Given the description of an element on the screen output the (x, y) to click on. 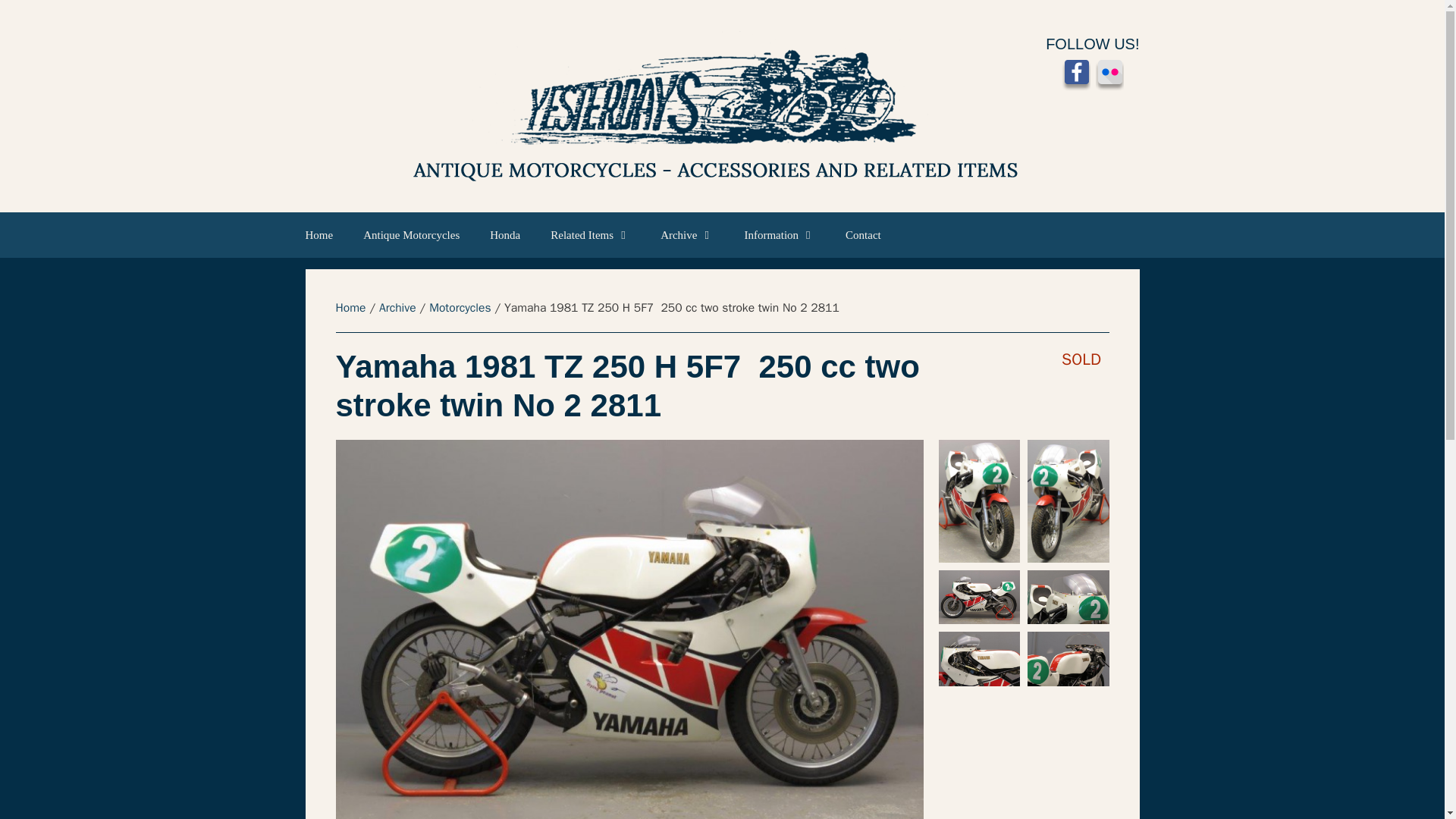
Yam-1981-TZ250-nr2-2811-5 (1068, 500)
Contact (862, 234)
Archive (397, 307)
Home (349, 307)
Home (325, 234)
Archive (687, 234)
Antique Motorcycles (410, 234)
Yam-1981-TZ250-nr2-2811-7 (1068, 658)
Yesterdays (675, 106)
Yam-1981-TZ250-nr2-2811-2 (979, 597)
Information (779, 234)
Related Items (590, 234)
Motorcycles (459, 307)
Yam-1981-TZ250-nr2-2811-4 (979, 500)
